Given the description of an element on the screen output the (x, y) to click on. 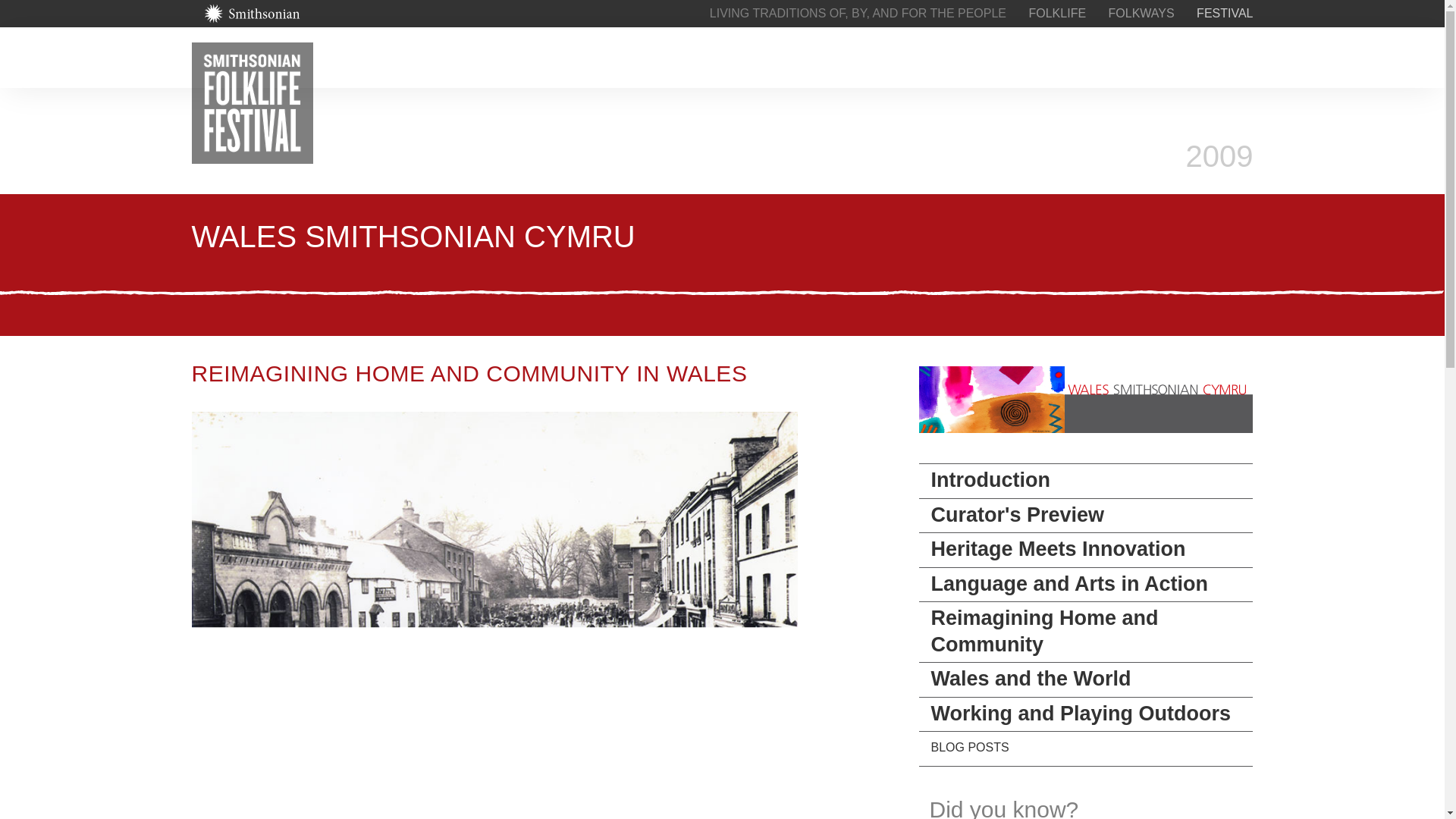
FOLKLIFE (1056, 12)
search (1152, 56)
search (1152, 57)
FOLKWAYS (1141, 12)
share (1198, 56)
share (1198, 57)
menu (1243, 57)
menu (1244, 56)
FESTIVAL (1224, 12)
